Given the description of an element on the screen output the (x, y) to click on. 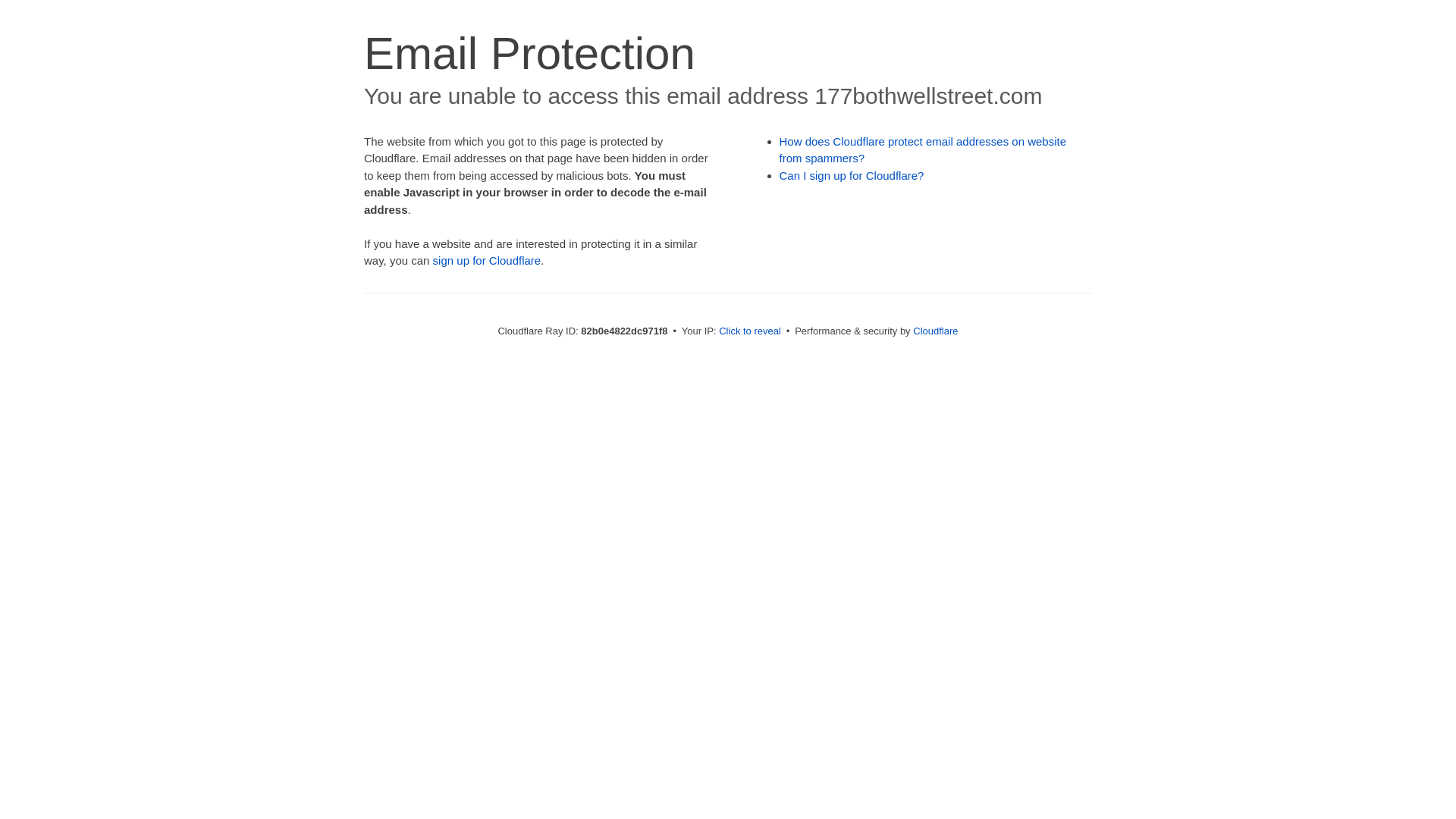
Click to reveal Element type: text (749, 330)
sign up for Cloudflare Element type: text (487, 260)
Can I sign up for Cloudflare? Element type: text (851, 175)
Cloudflare Element type: text (935, 330)
